Given the description of an element on the screen output the (x, y) to click on. 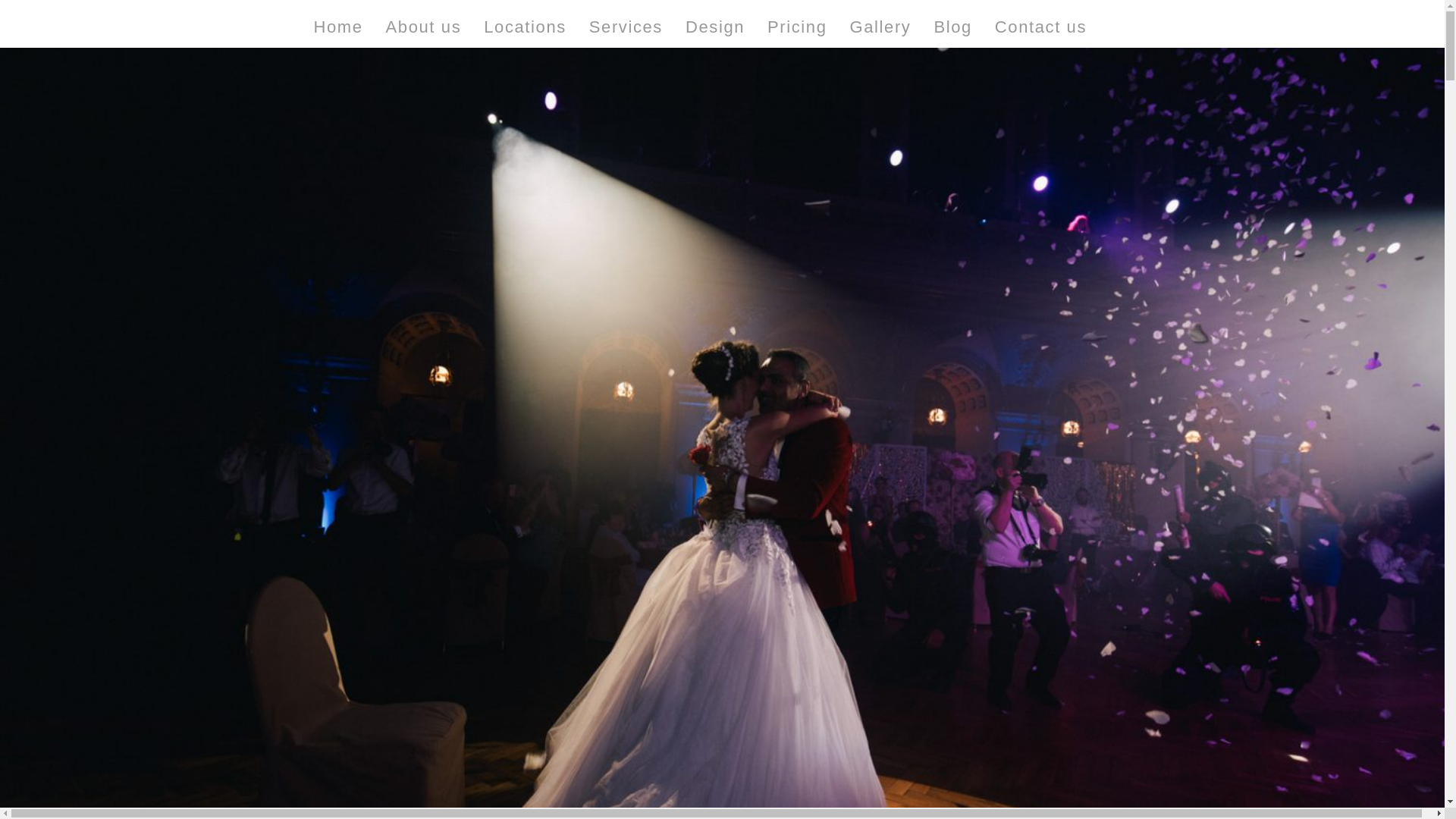
Blog (951, 28)
Locations (524, 28)
Services (626, 28)
Contact us (1040, 28)
Gallery (880, 28)
Pricing (796, 28)
Design (714, 28)
About us (423, 28)
Home (337, 28)
